Given the description of an element on the screen output the (x, y) to click on. 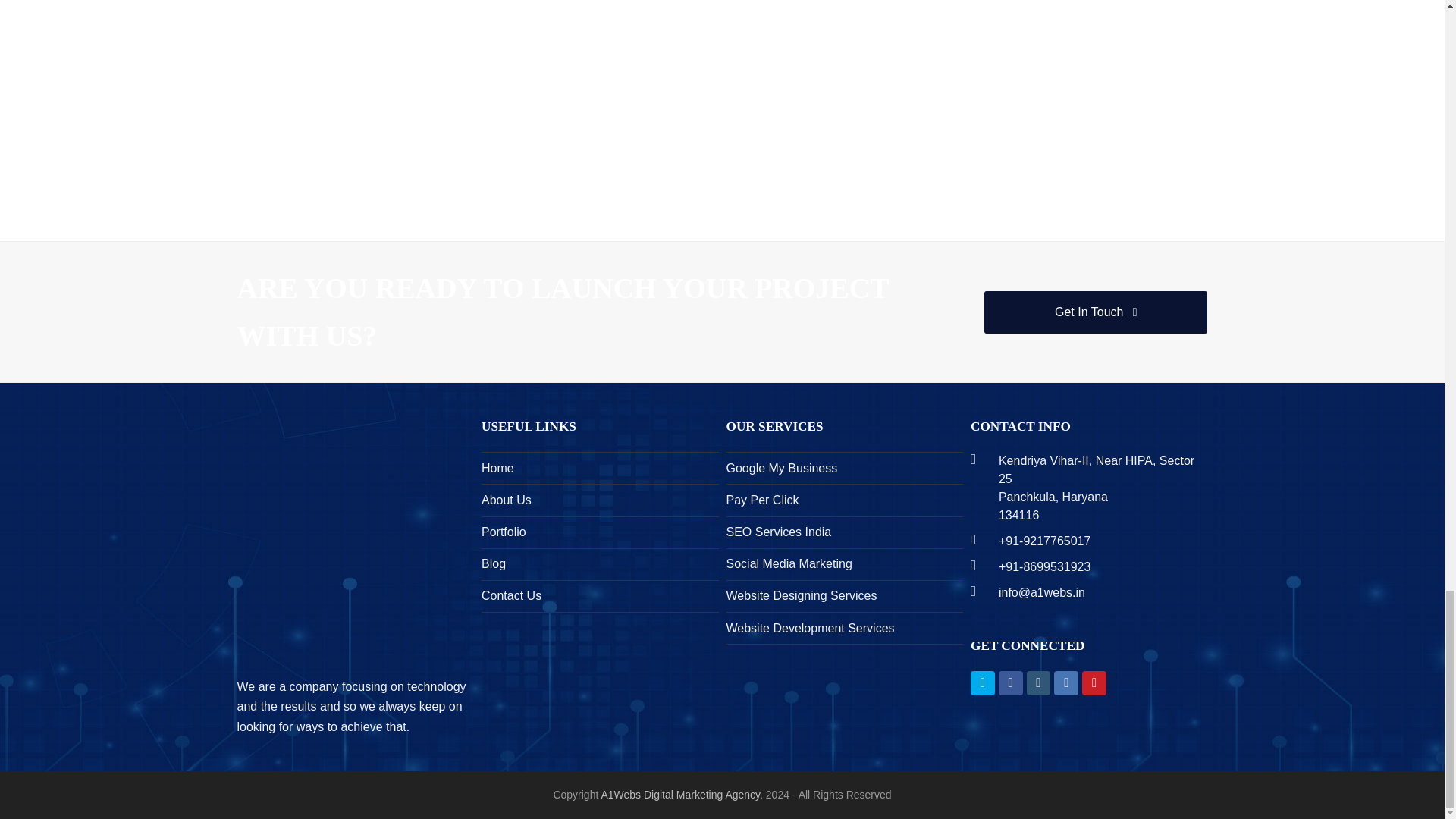
Home (497, 468)
Get In Touch (1095, 312)
Facebook (1010, 682)
Pay Per Click (762, 499)
Contact Us (511, 594)
Blog (493, 563)
LinkedIn (1066, 682)
About Us (506, 499)
Google My Business (782, 468)
Twitter (982, 682)
